Given the description of an element on the screen output the (x, y) to click on. 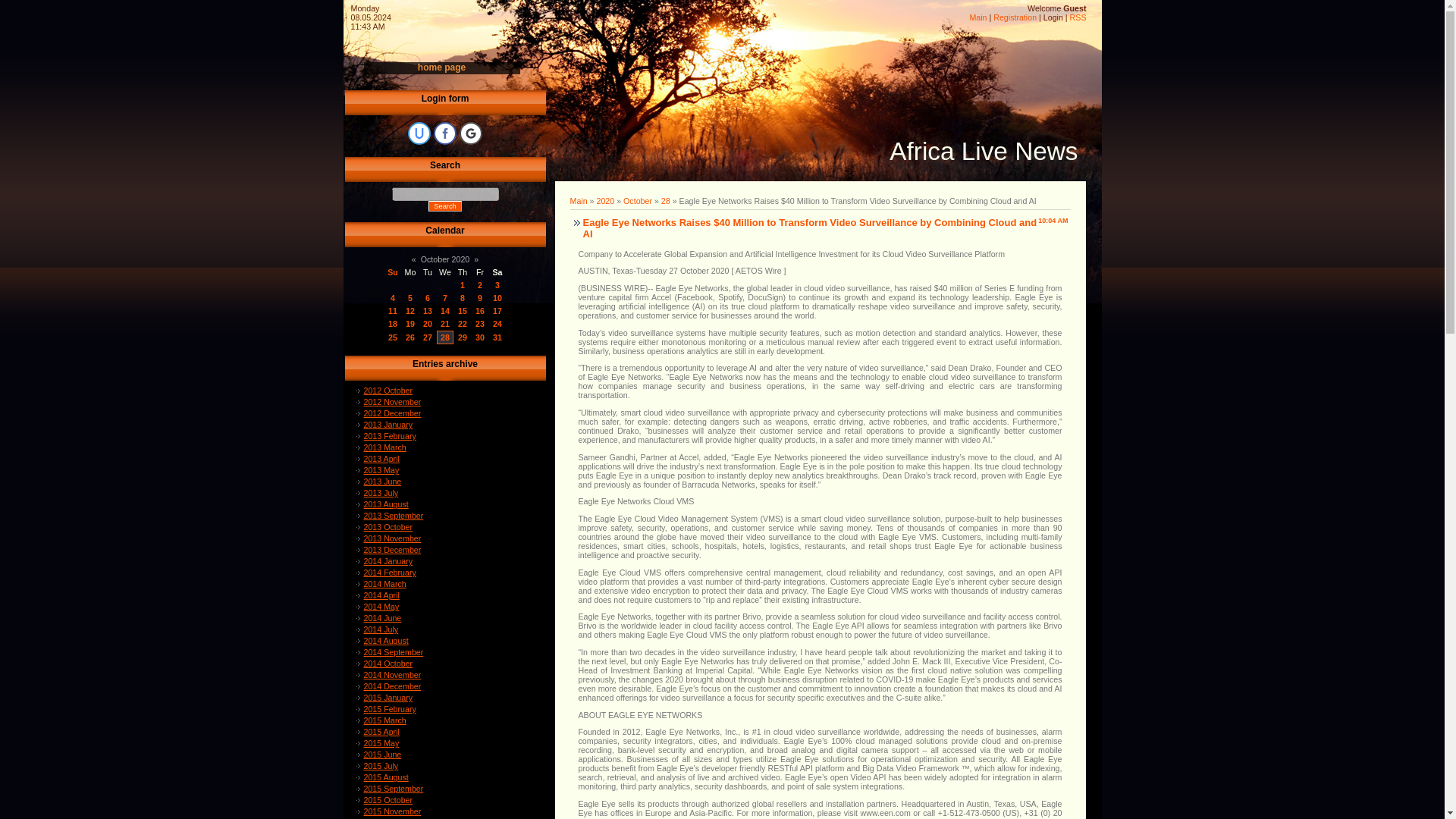
Search (444, 205)
22 (462, 323)
18 (392, 323)
11 Messages (462, 310)
14 (445, 310)
Search (444, 205)
10 Messages (445, 310)
27 (427, 337)
12 (410, 310)
23 (480, 323)
Main (978, 17)
24 (497, 323)
Search (444, 205)
20 (427, 323)
7 Messages (427, 310)
